Given the description of an element on the screen output the (x, y) to click on. 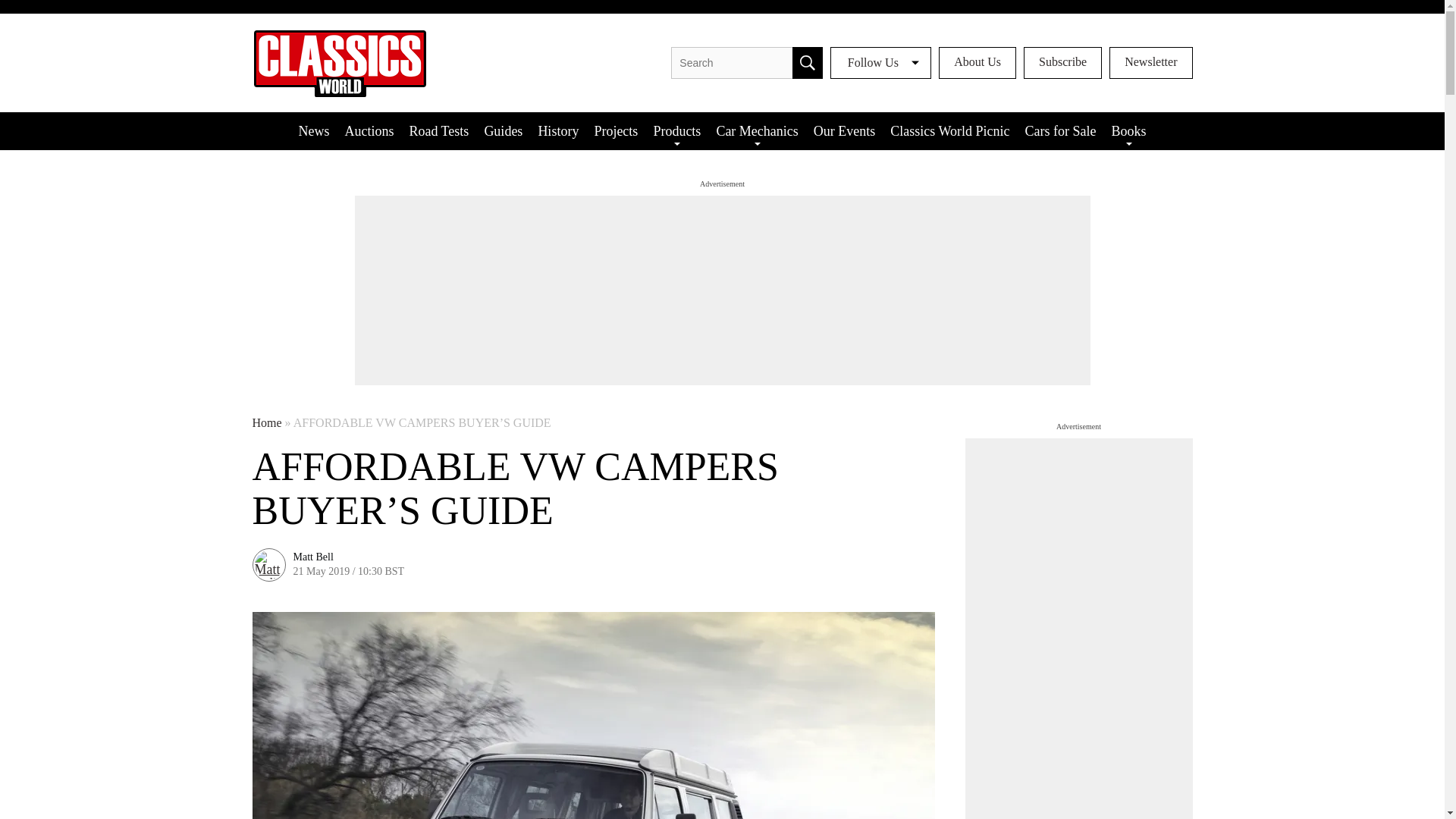
Products (676, 130)
Auctions (368, 130)
Matt Bell (312, 557)
Classics World (338, 62)
About Us (977, 62)
Car Mechanics (756, 130)
News (312, 130)
Newsletter (1150, 62)
Subscribe (1062, 62)
Classics World Picnic (949, 130)
